Given the description of an element on the screen output the (x, y) to click on. 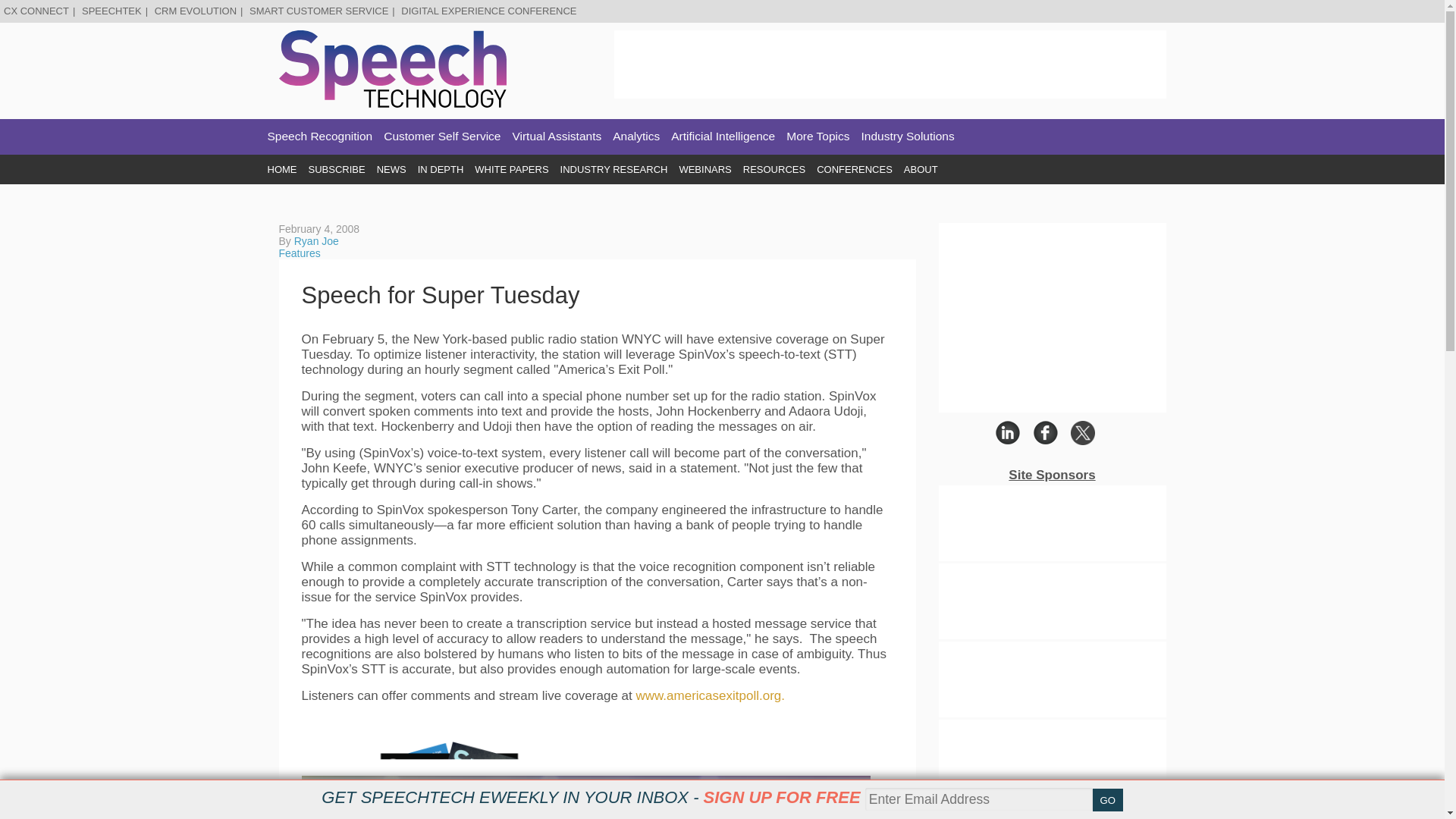
Artificial Intelligence (722, 136)
DIGITAL EXPERIENCE CONFERENCE (488, 10)
CRM EVOLUTION (194, 10)
Speech Recognition (319, 136)
SMART CUSTOMER SERVICE (318, 10)
GET SPEECHTECH EWEEKLY IN YOUR INBOX - SIGN UP FOR FREE (590, 797)
Industry Solutions (908, 136)
Analytics (635, 136)
More Topics (817, 136)
Analytics (635, 136)
